Given the description of an element on the screen output the (x, y) to click on. 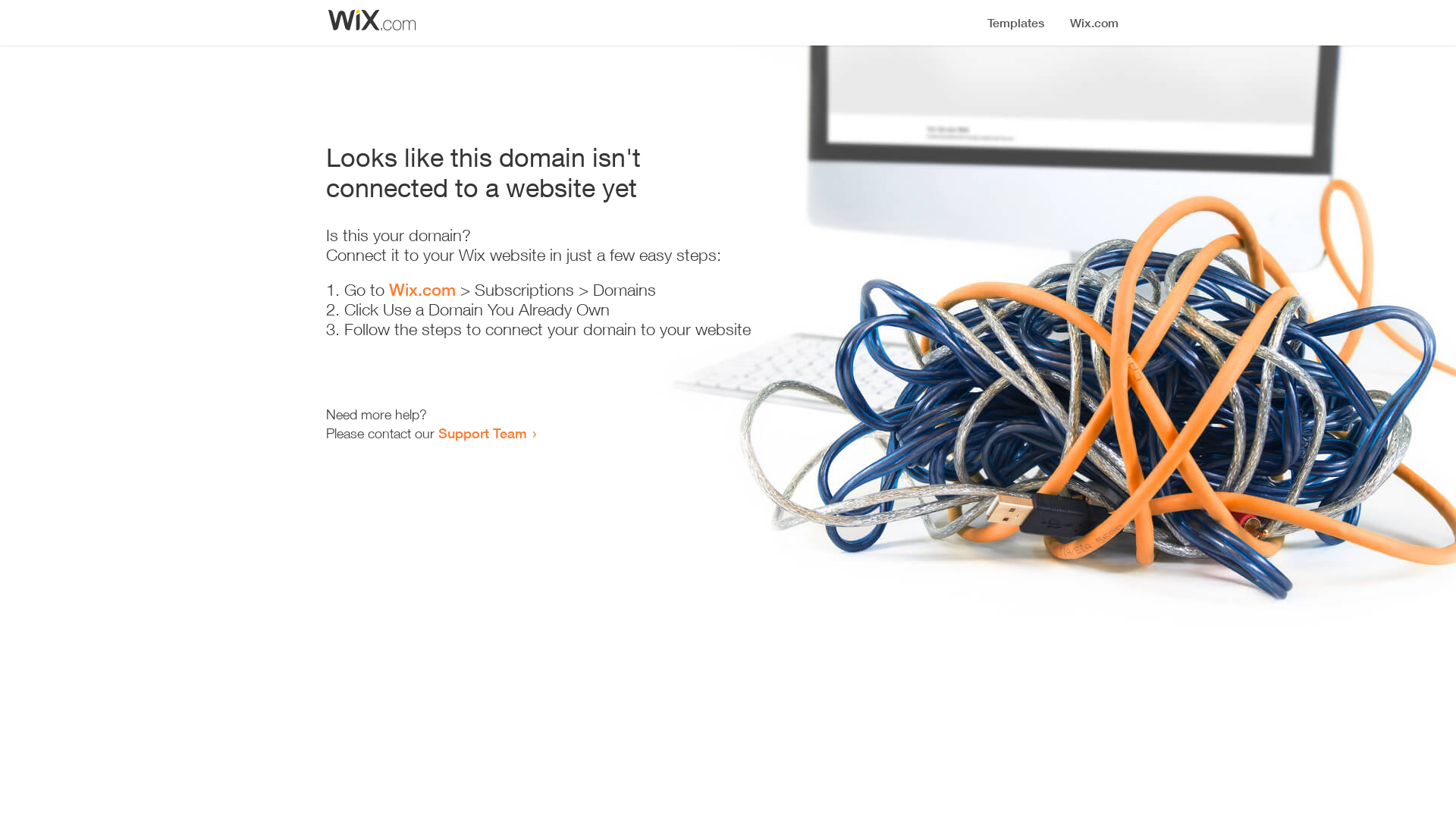
Wix.com Element type: text (422, 289)
Support Team Element type: text (482, 432)
